Given the description of an element on the screen output the (x, y) to click on. 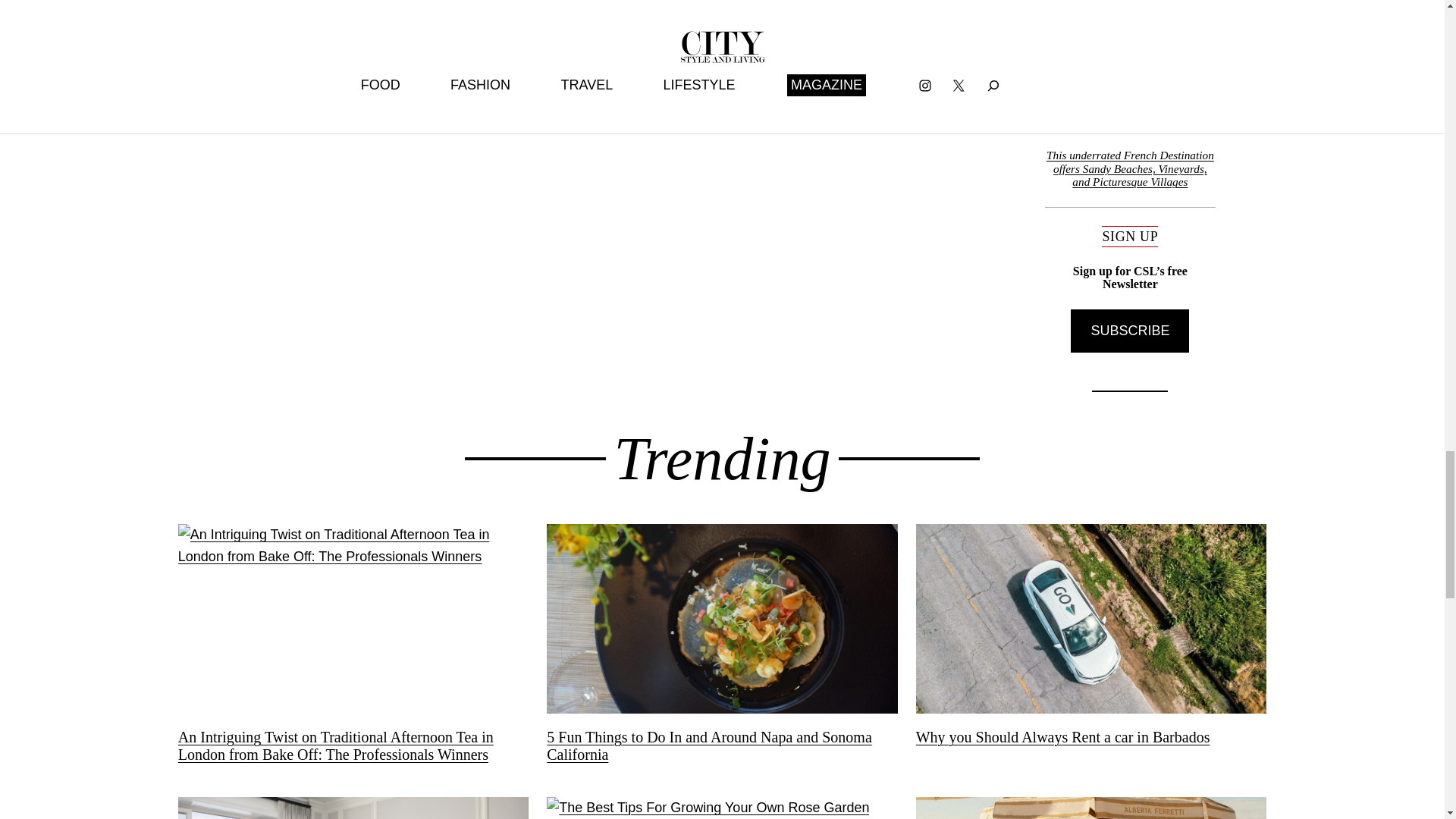
SUBSCRIBE (1129, 330)
5 Fun Things to Do In and Around Napa and Sonoma California (721, 745)
